Given the description of an element on the screen output the (x, y) to click on. 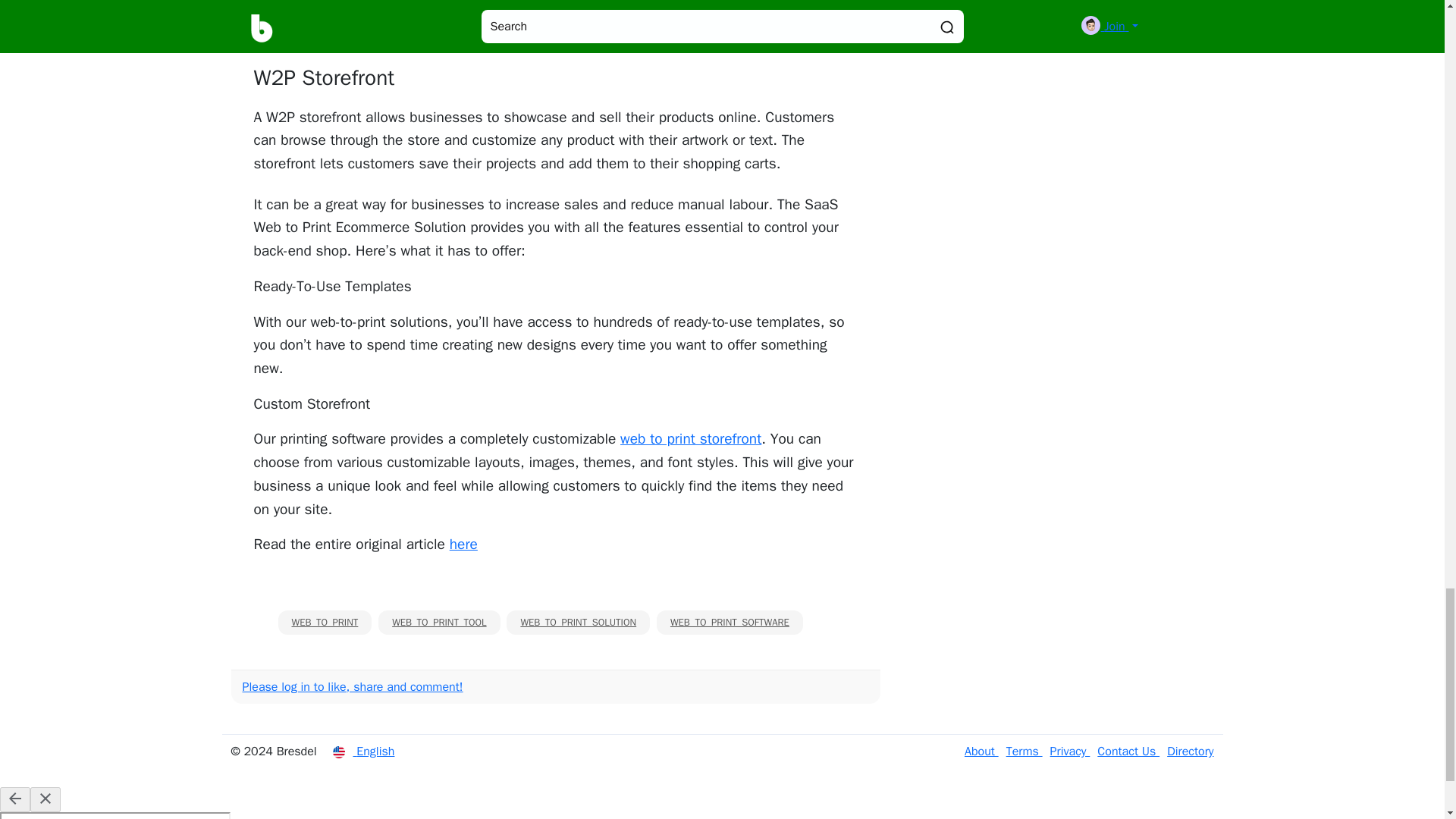
web to print storefront (690, 438)
here (463, 544)
Please log in to like, share and comment! (353, 686)
